Given the description of an element on the screen output the (x, y) to click on. 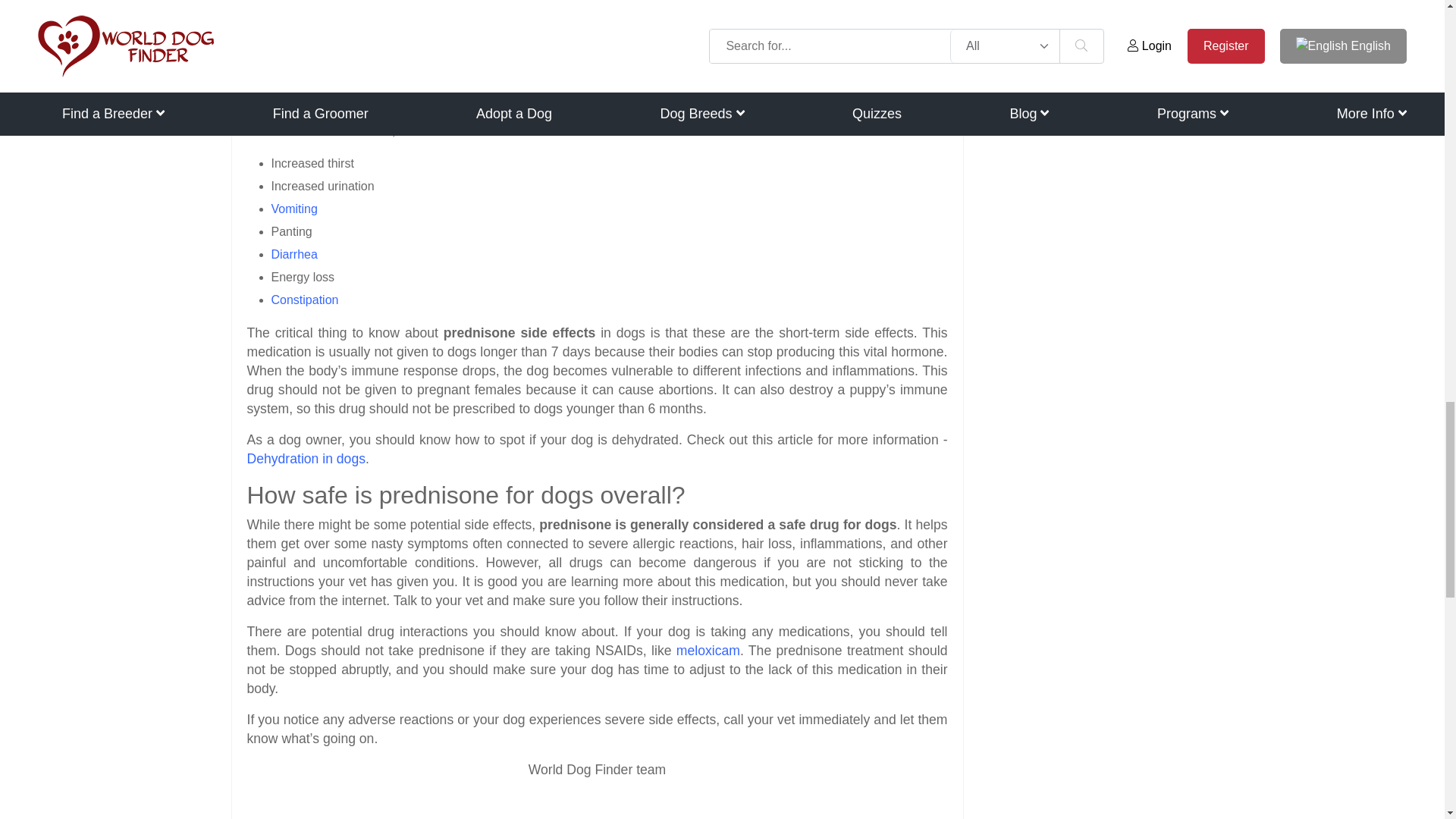
Vomiting (293, 207)
Dehydration in dogs (306, 458)
meloxicam (708, 650)
Constipation (304, 298)
Diarrhea (293, 253)
